Given the description of an element on the screen output the (x, y) to click on. 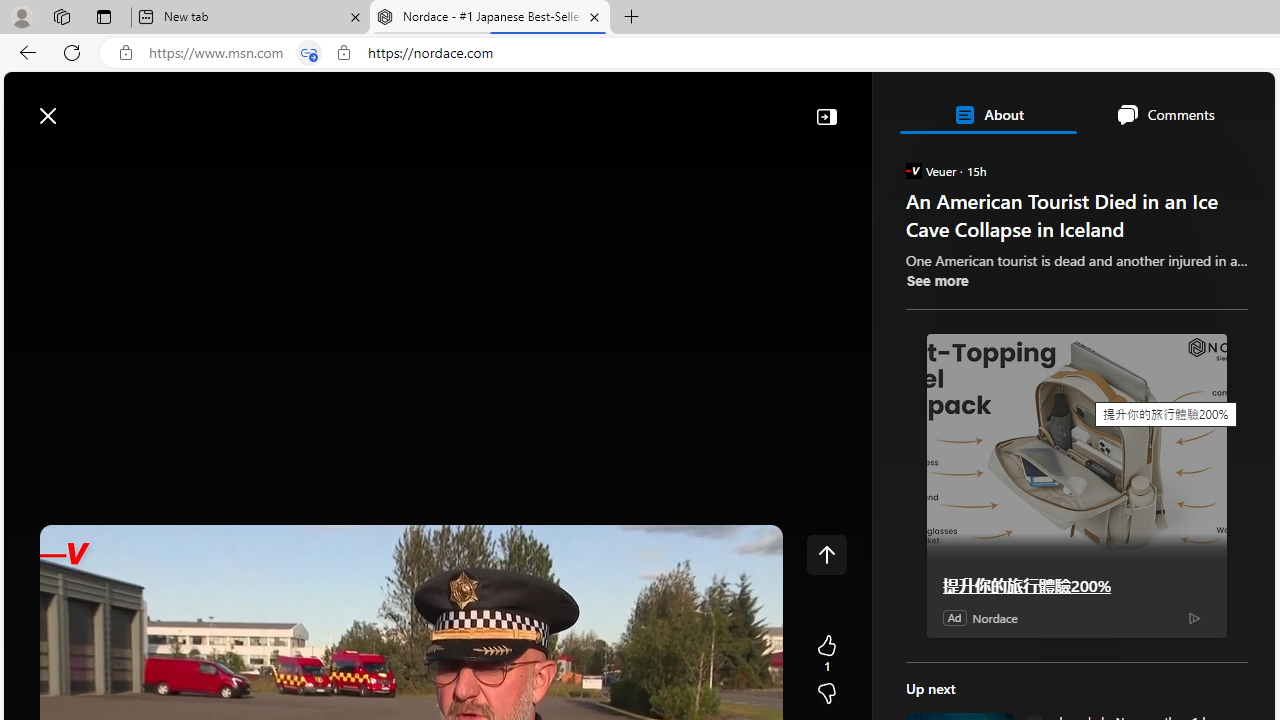
Watch (249, 162)
Personal Profile (21, 16)
Following (173, 162)
Web search (283, 105)
Notifications (1190, 105)
Discover (84, 162)
Microsoft Start (94, 105)
Collapse (826, 115)
